Given the description of an element on the screen output the (x, y) to click on. 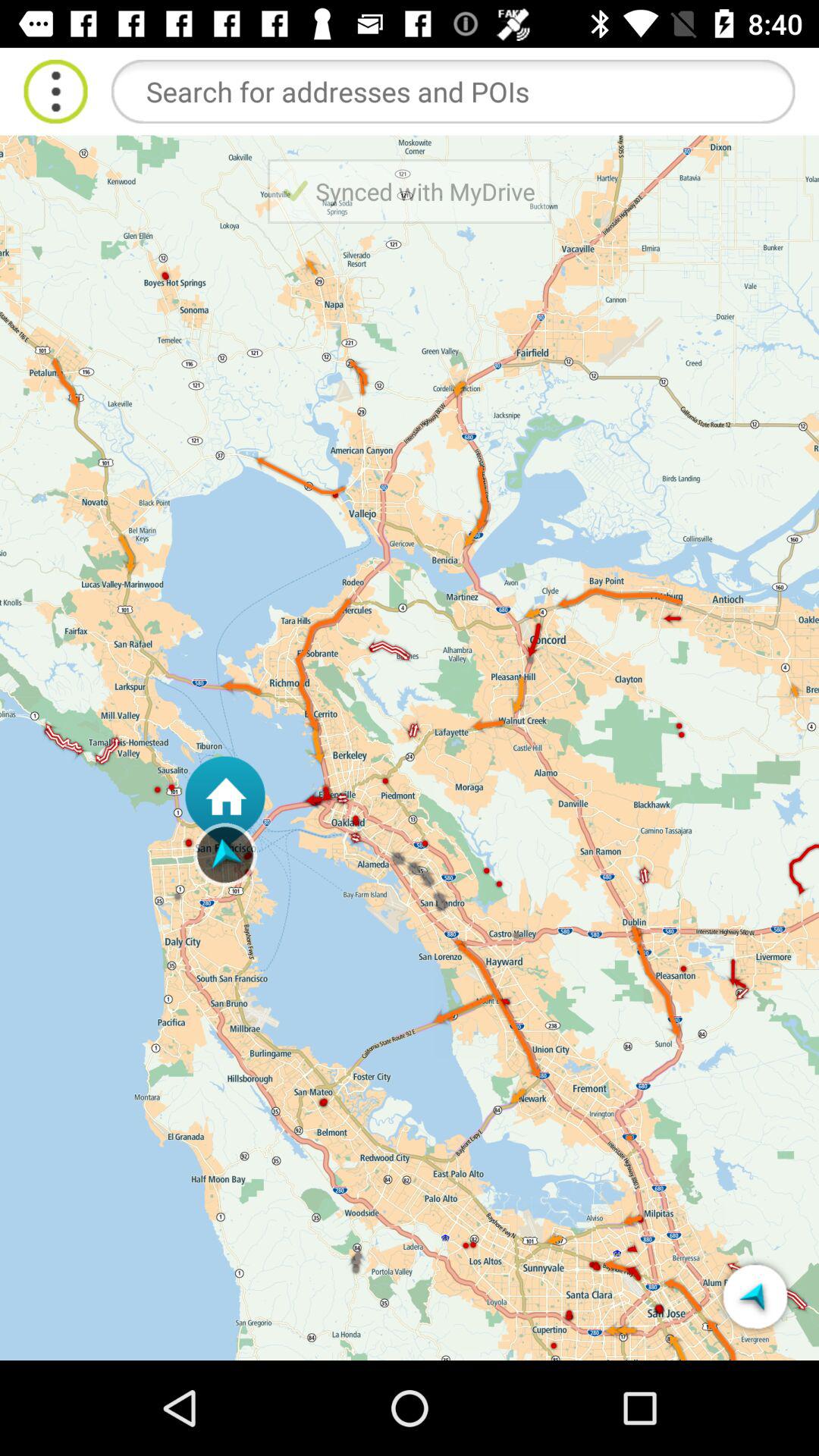
tomtom mydrive (755, 1296)
